Given the description of an element on the screen output the (x, y) to click on. 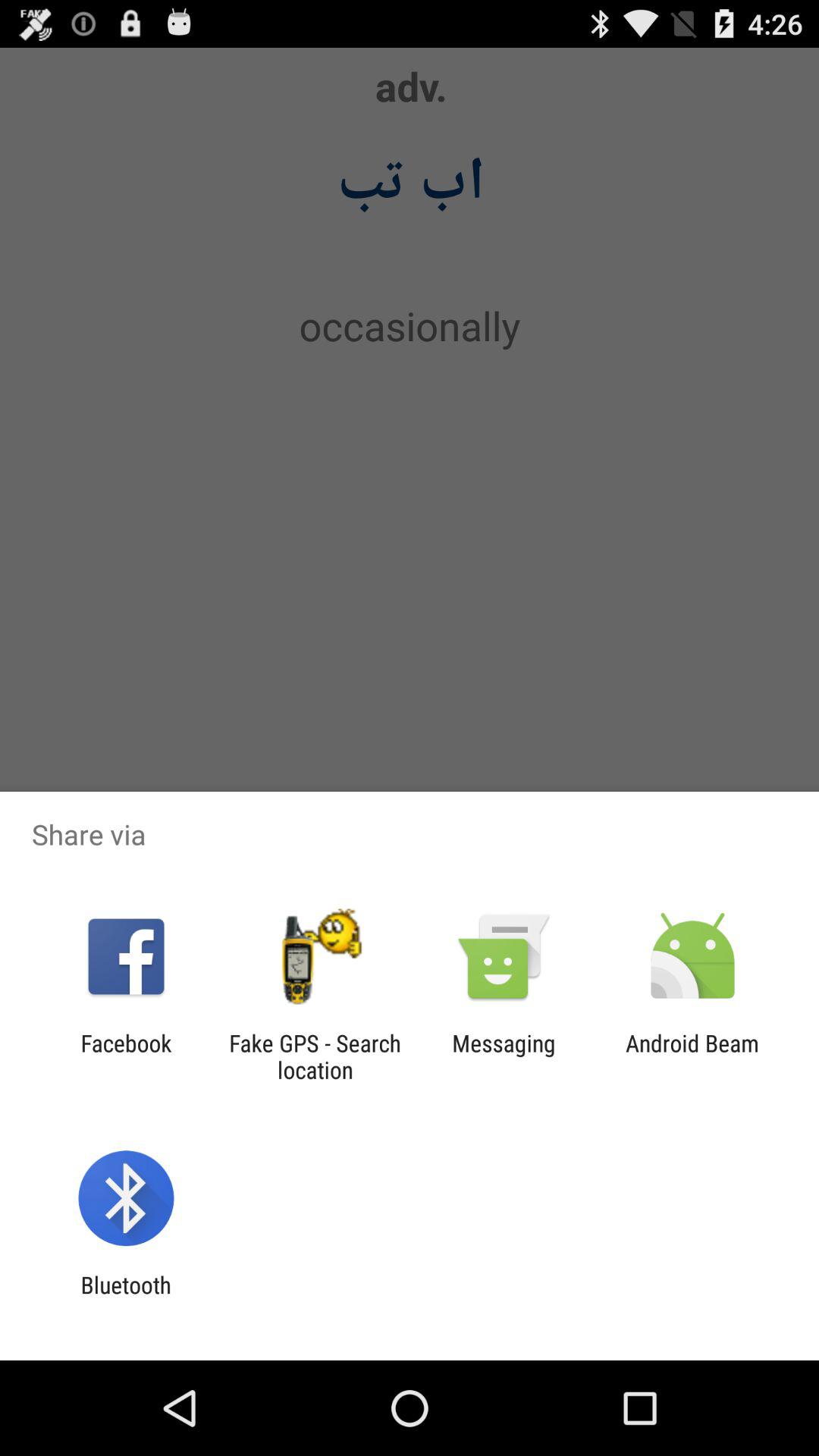
click icon to the left of the fake gps search (125, 1056)
